Given the description of an element on the screen output the (x, y) to click on. 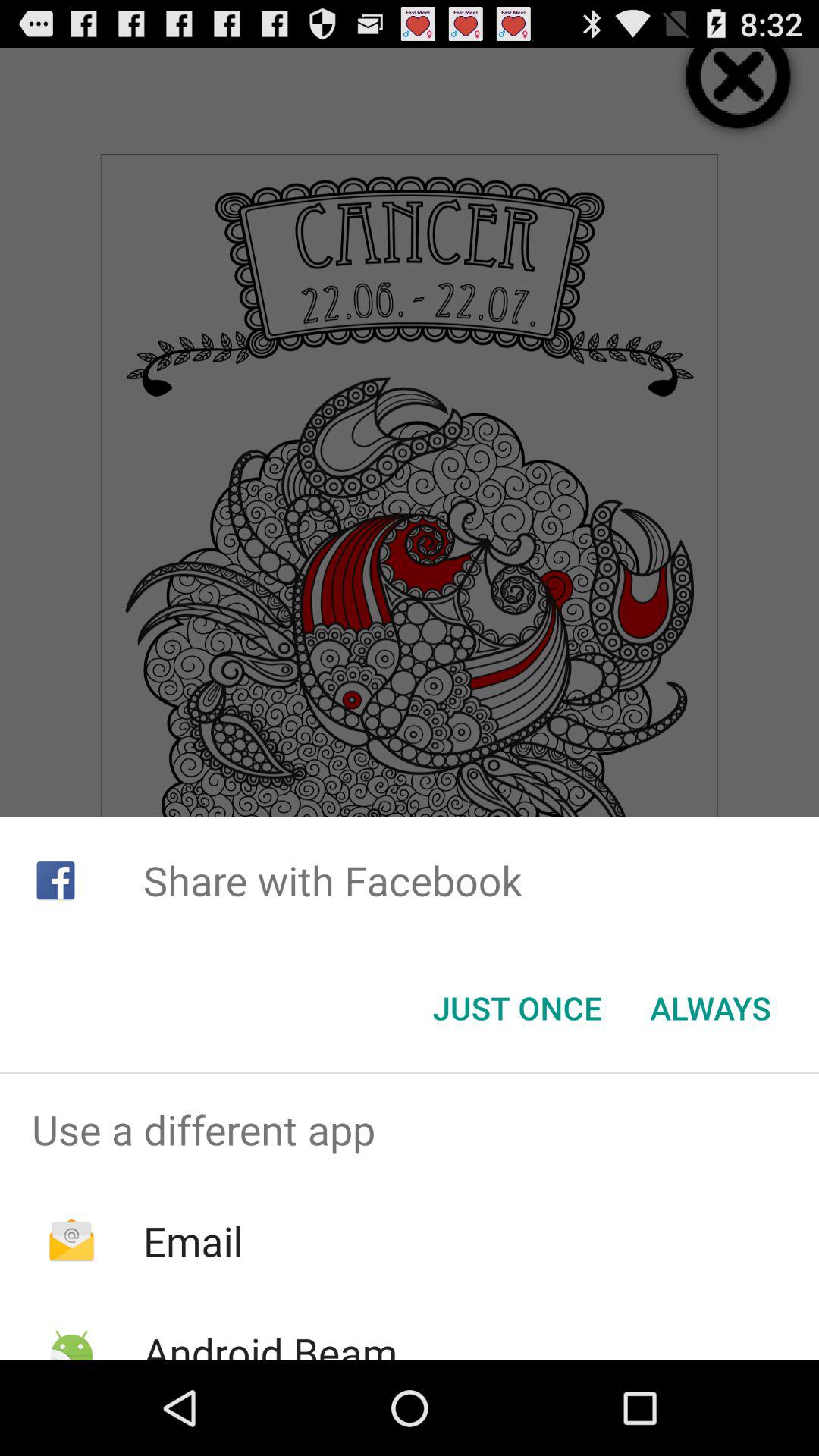
scroll until android beam (270, 1342)
